Given the description of an element on the screen output the (x, y) to click on. 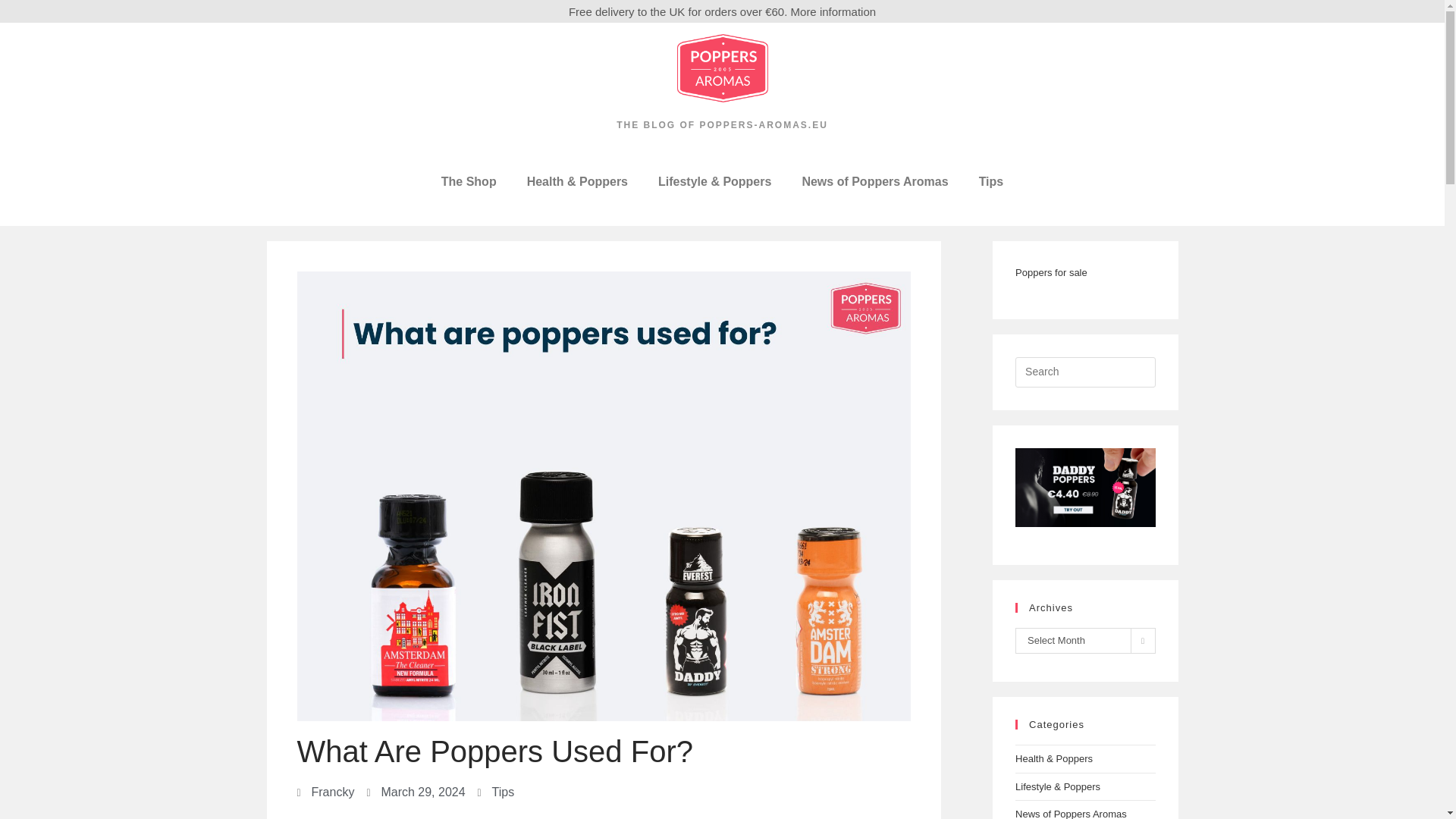
Poppers for sale (1050, 272)
Tips (991, 181)
The Shop (469, 181)
News of Poppers Aromas (874, 181)
